Given the description of an element on the screen output the (x, y) to click on. 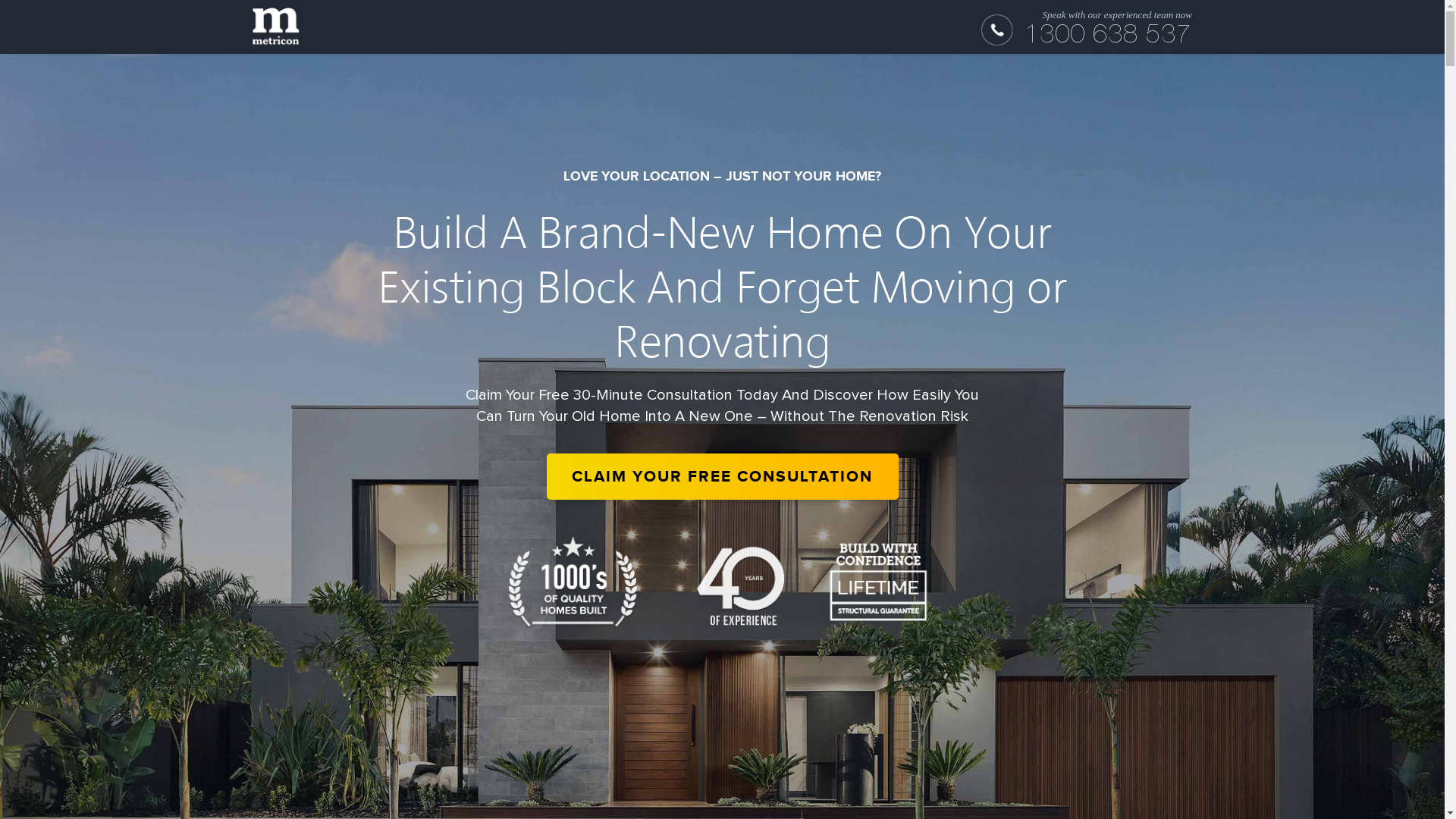
CLAIM YOUR FREE CONSULTATION Element type: text (721, 476)
CLAIM YOUR FREE CONSULTATION Element type: text (721, 476)
